Given the description of an element on the screen output the (x, y) to click on. 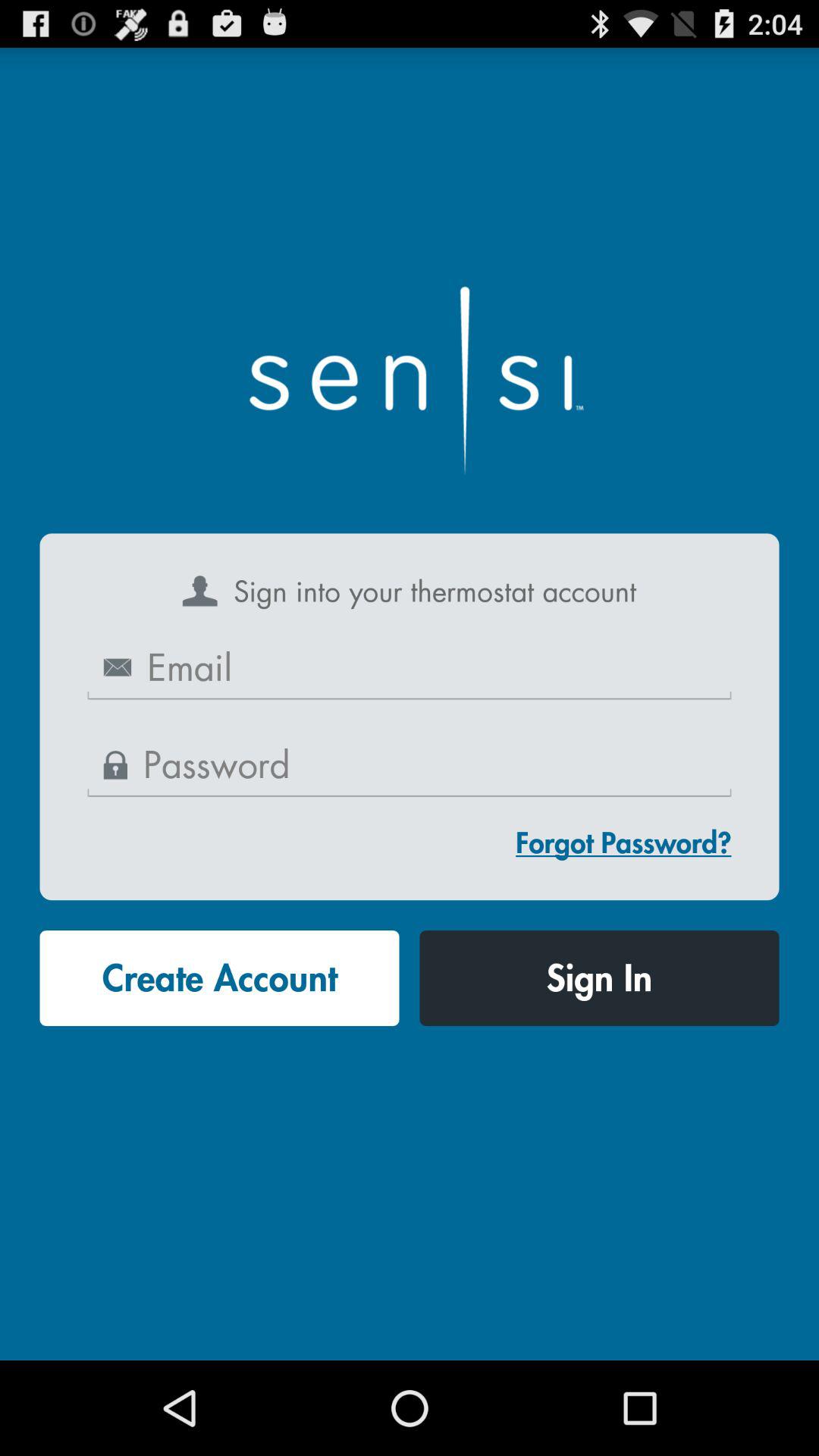
swipe until the  forgot password?  item (623, 842)
